Given the description of an element on the screen output the (x, y) to click on. 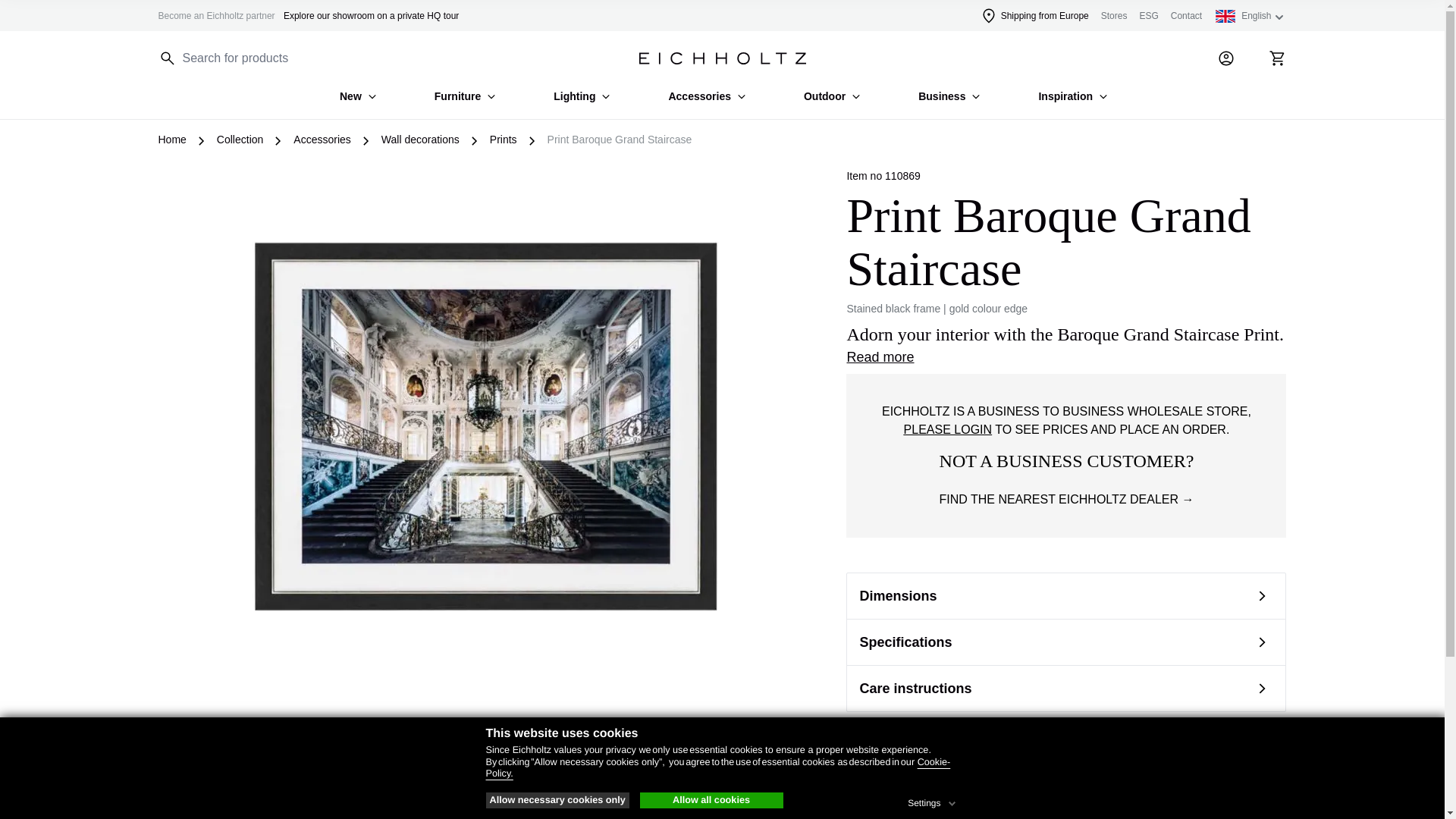
Settings (932, 800)
Cookie- Policy. (717, 767)
Allow necessary cookies only (556, 800)
Allow all cookies (711, 800)
